Given the description of an element on the screen output the (x, y) to click on. 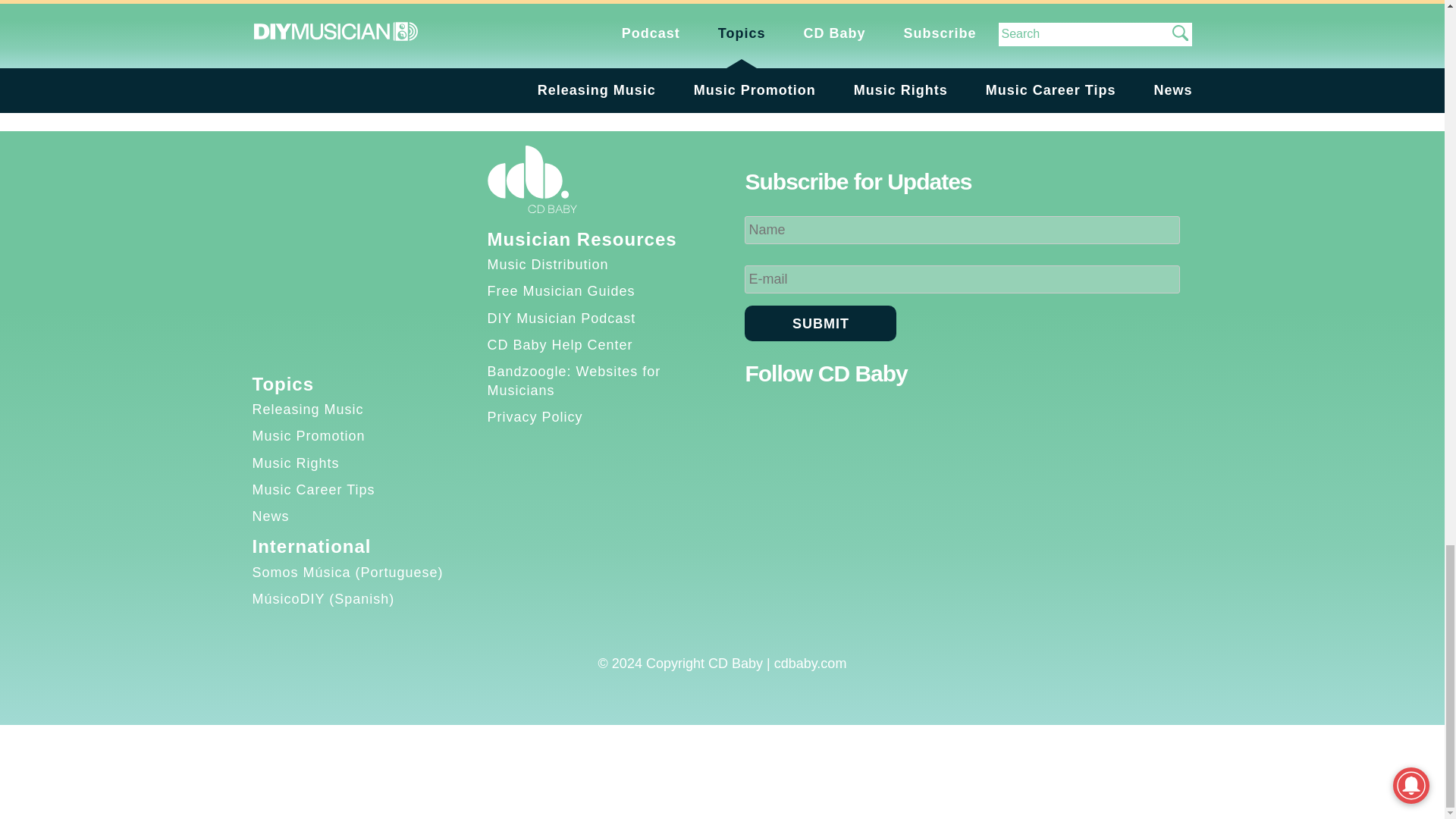
Releasing Music (306, 409)
Music Promotion (308, 435)
News and Announcements (376, 26)
Submit (820, 323)
Music Career Tips (312, 489)
Music Rights (295, 462)
News (269, 516)
